Given the description of an element on the screen output the (x, y) to click on. 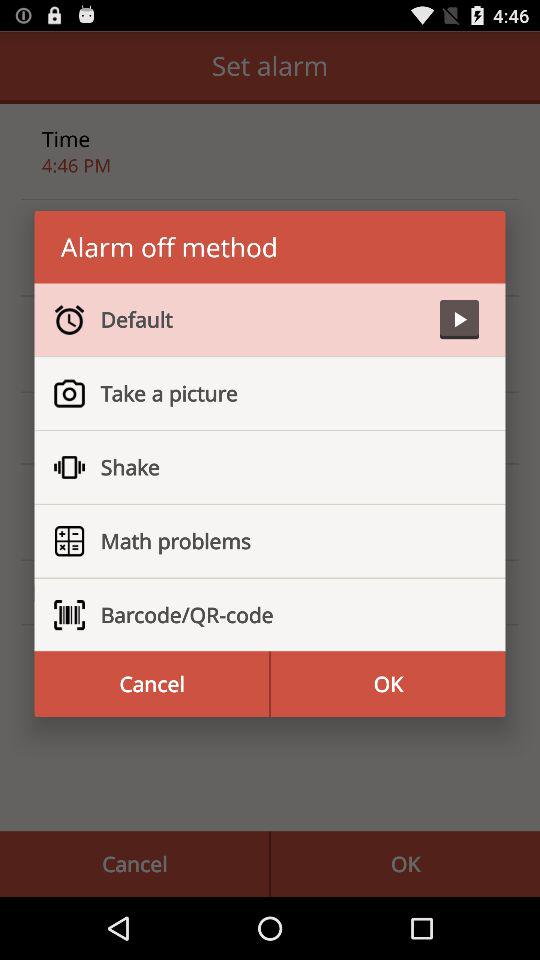
press the cancel item (151, 683)
